Given the description of an element on the screen output the (x, y) to click on. 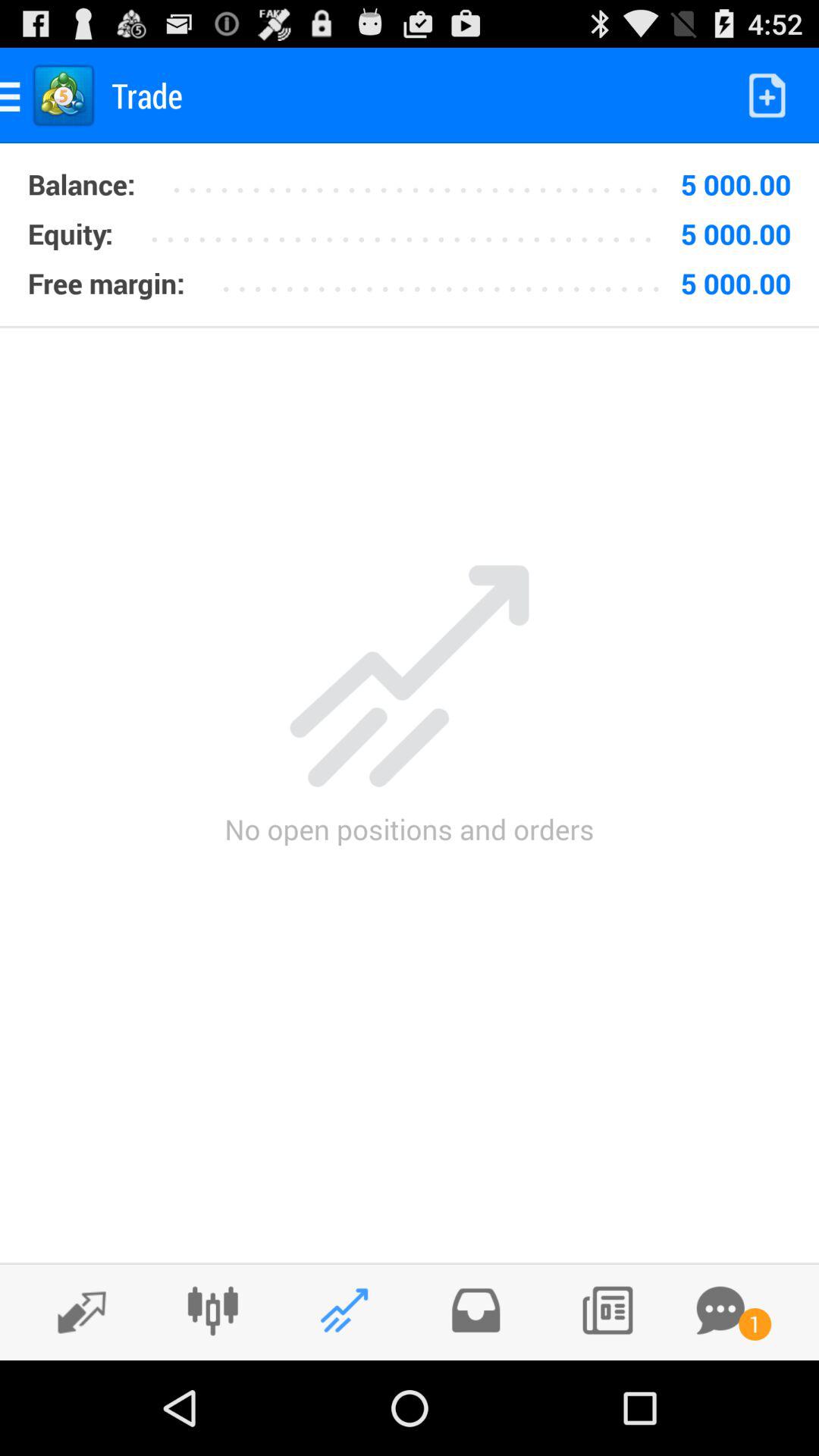
turn off the item below free margin: (409, 326)
